Given the description of an element on the screen output the (x, y) to click on. 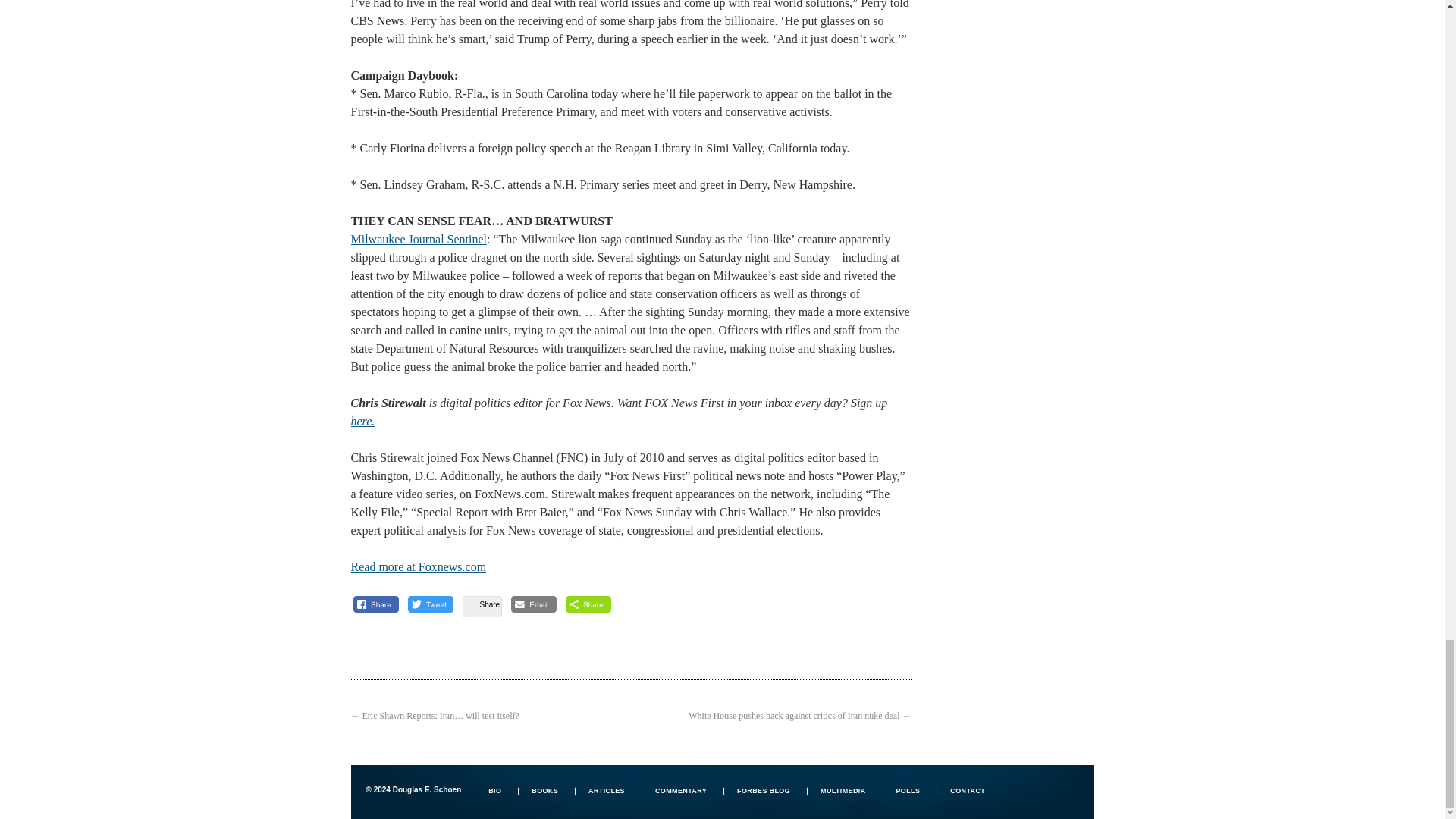
As voters cool, Hillary tries global warming gambit (418, 566)
Douglas E. Schoen (413, 789)
